Given the description of an element on the screen output the (x, y) to click on. 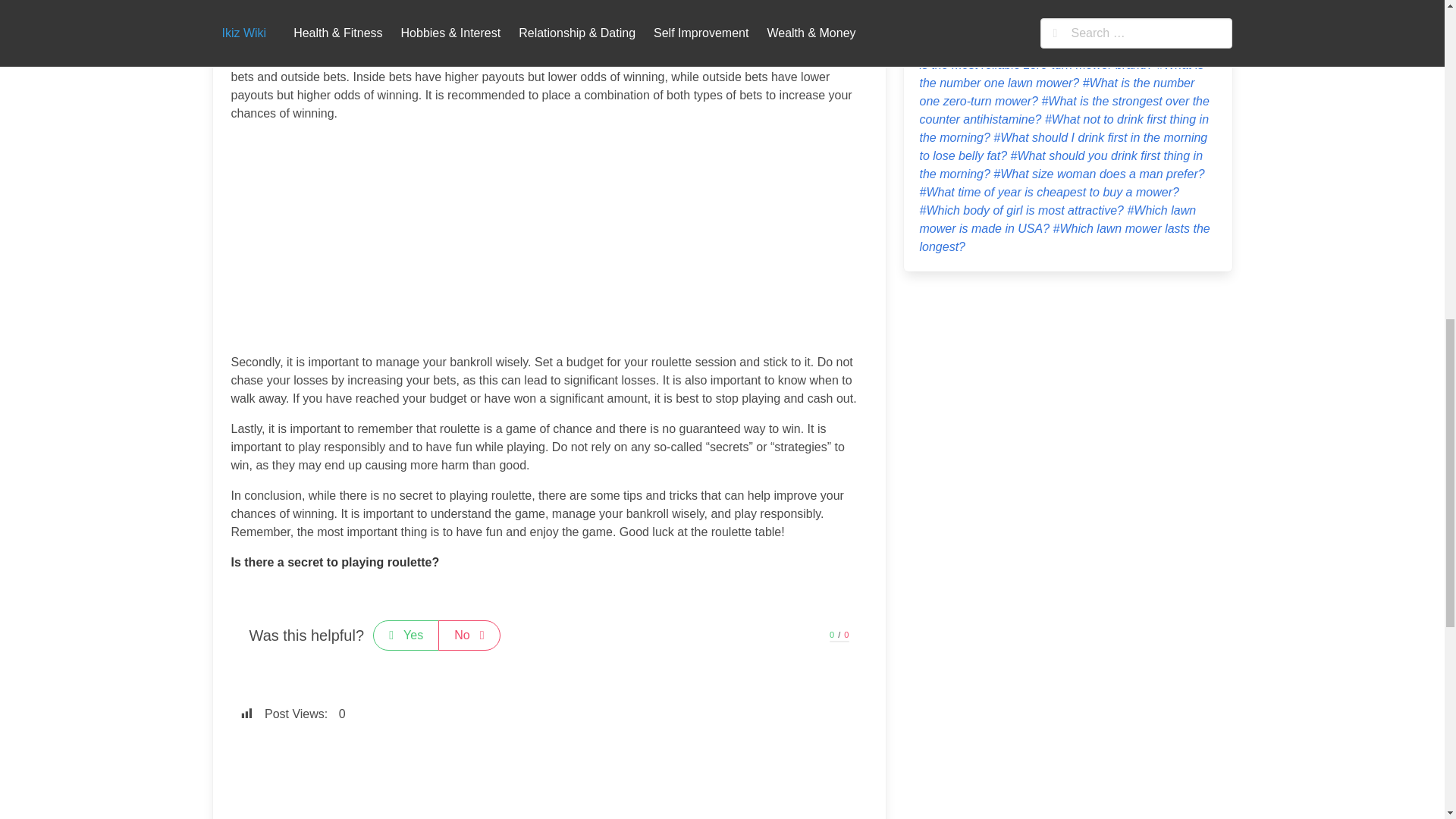
No (468, 634)
Yes (405, 634)
Advertisement (548, 774)
